Given the description of an element on the screen output the (x, y) to click on. 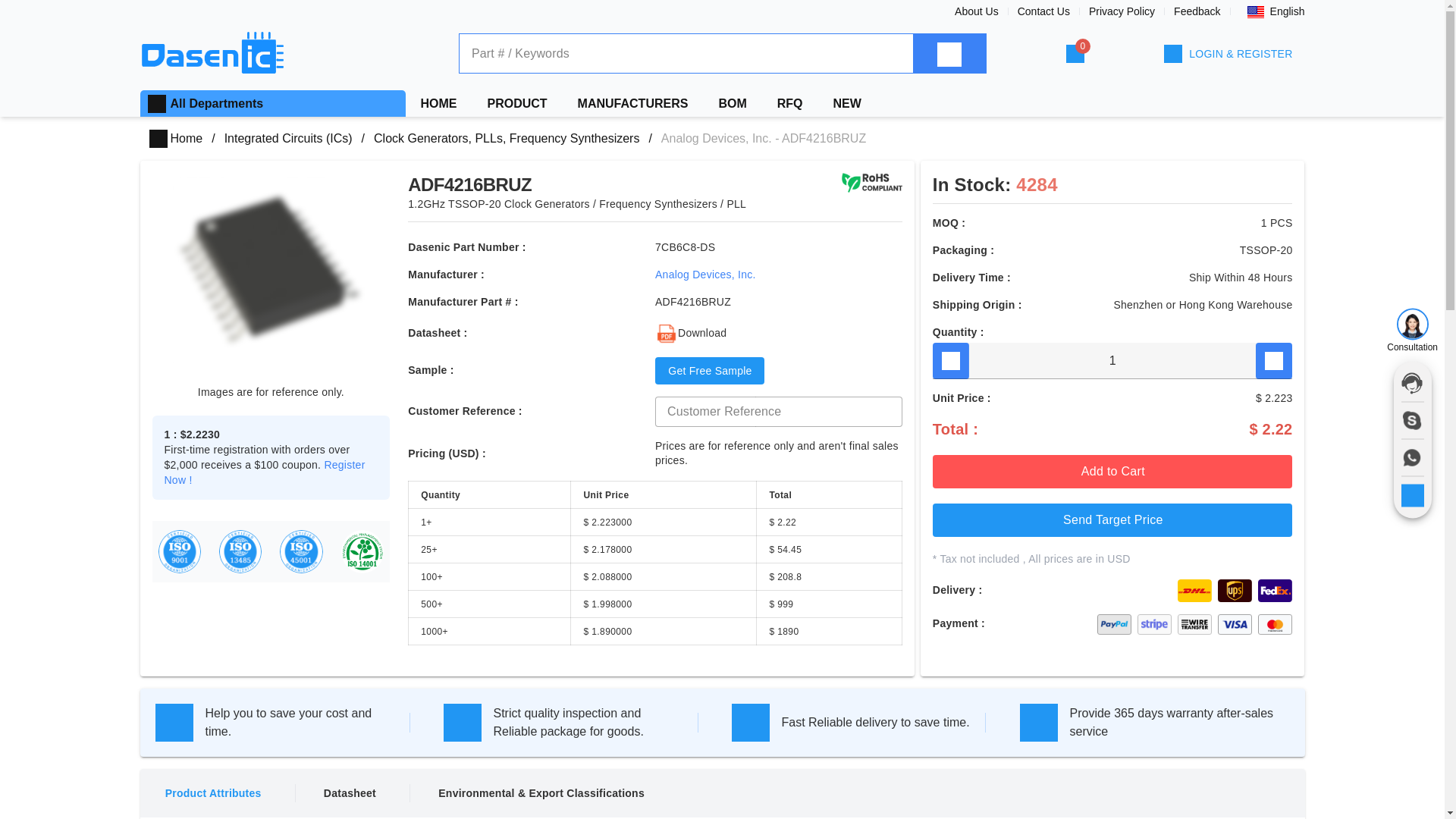
1 (1112, 361)
Contact Us (1043, 11)
Privacy Policy (1121, 11)
0 (1074, 54)
All Departments (216, 103)
About Us (976, 11)
Feedback (1196, 11)
